Given the description of an element on the screen output the (x, y) to click on. 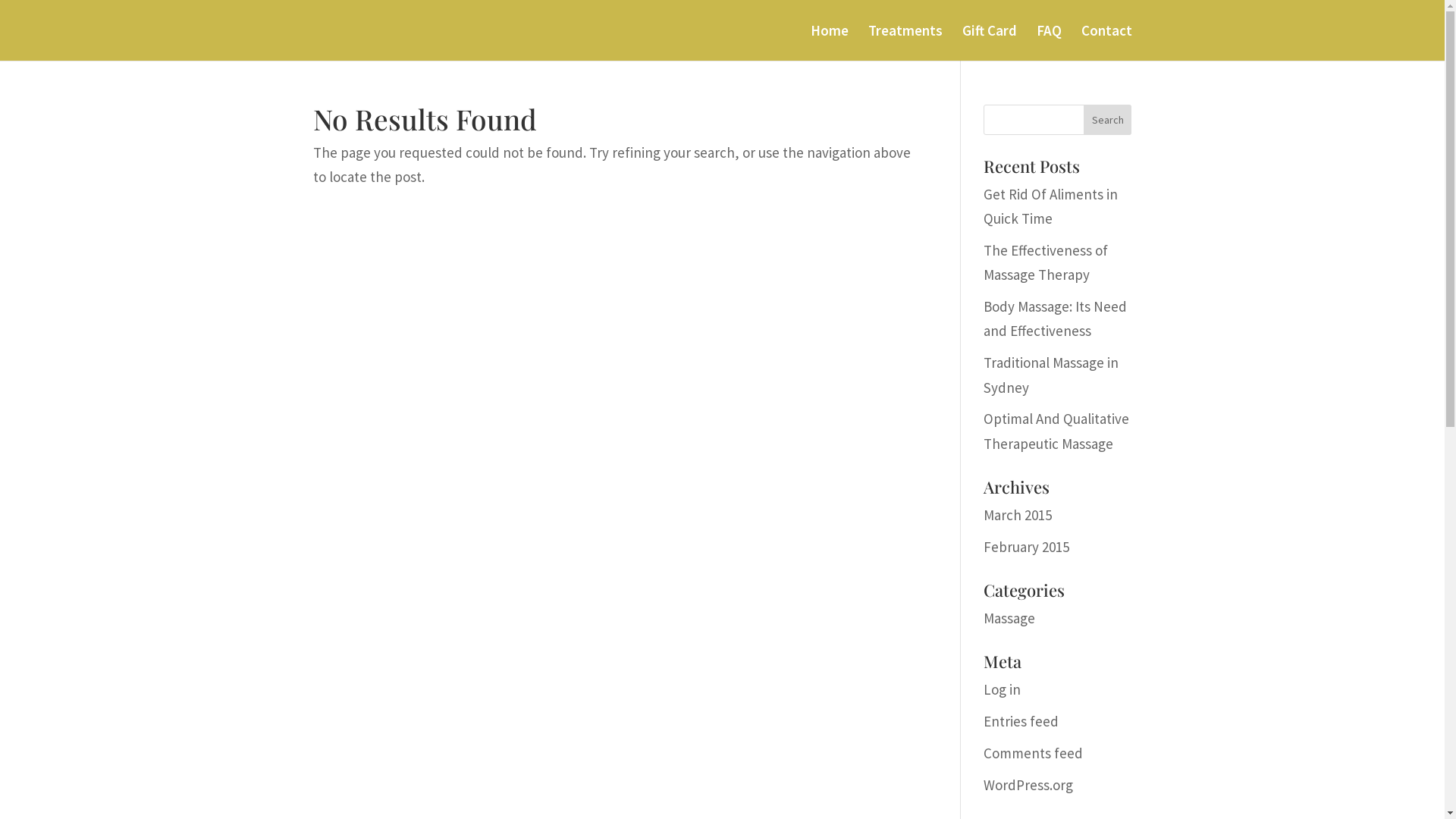
Log in Element type: text (1001, 689)
WordPress.org Element type: text (1028, 784)
The Effectiveness of Massage Therapy Element type: text (1045, 262)
March 2015 Element type: text (1017, 514)
Gift Card Element type: text (988, 42)
February 2015 Element type: text (1026, 546)
Treatments Element type: text (904, 42)
Get Rid Of Aliments in Quick Time Element type: text (1050, 206)
Massage Element type: text (1009, 617)
Traditional Massage in Sydney Element type: text (1050, 374)
Body Massage: Its Need and Effectiveness Element type: text (1054, 318)
Contact Element type: text (1106, 42)
Search Element type: text (1107, 119)
Comments feed Element type: text (1032, 752)
FAQ Element type: text (1047, 42)
Optimal And Qualitative Therapeutic Massage Element type: text (1056, 430)
Home Element type: text (828, 42)
Entries feed Element type: text (1020, 721)
